Given the description of an element on the screen output the (x, y) to click on. 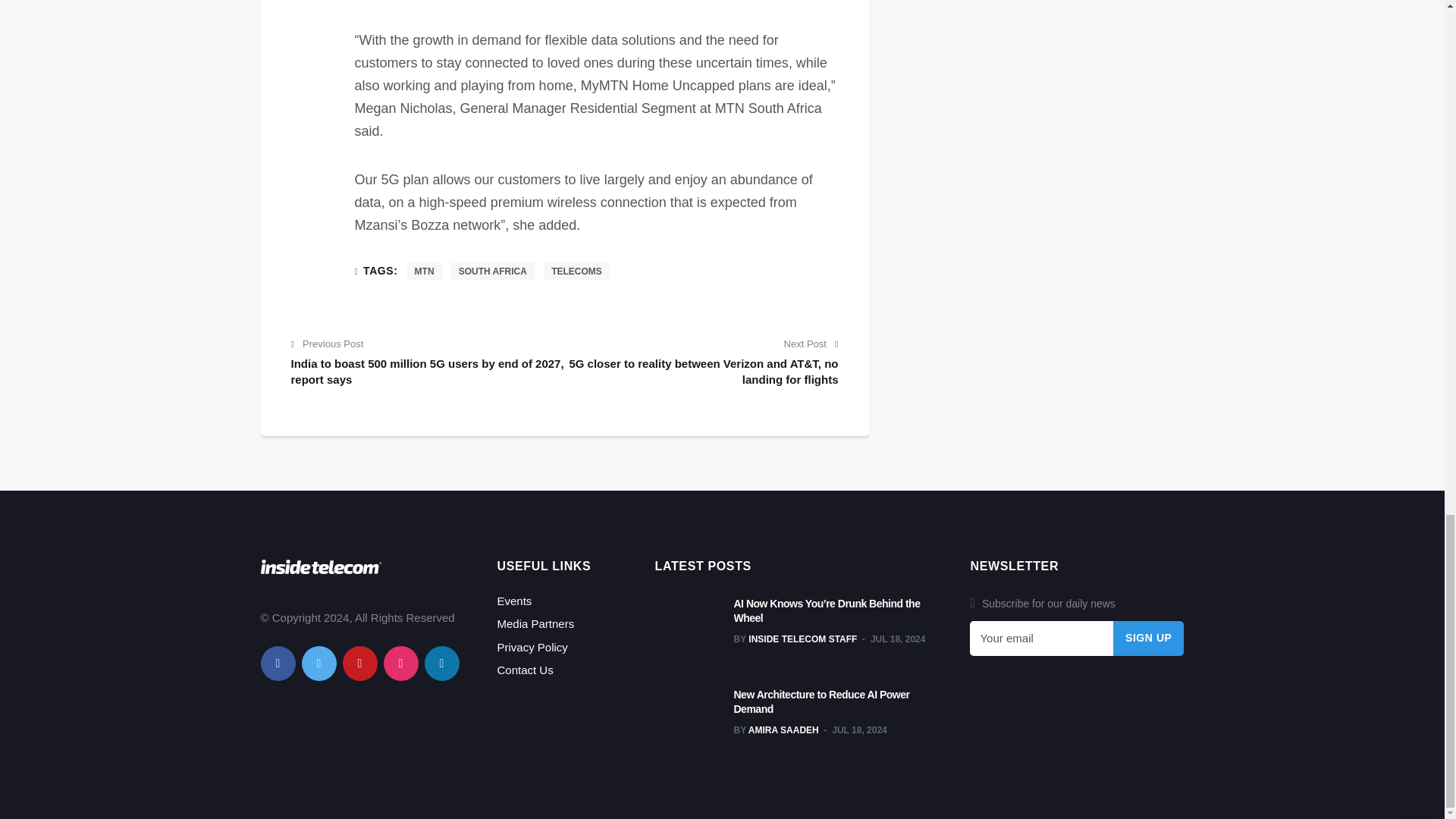
Sign Up (1149, 638)
